Given the description of an element on the screen output the (x, y) to click on. 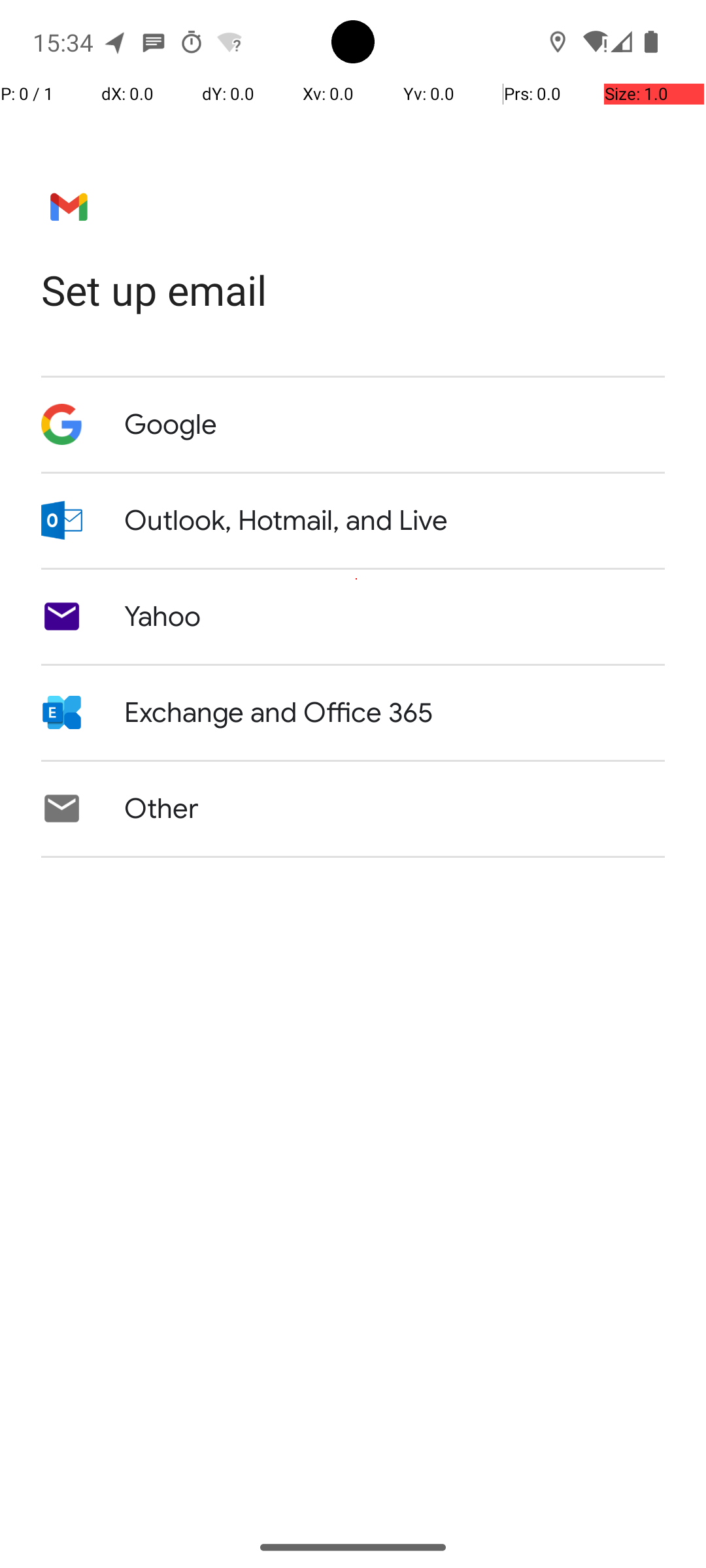
Set up email Element type: android.widget.TextView (352, 289)
Outlook, Hotmail, and Live Element type: android.widget.TextView (286, 520)
Exchange and Office 365 Element type: android.widget.TextView (278, 712)
